Given the description of an element on the screen output the (x, y) to click on. 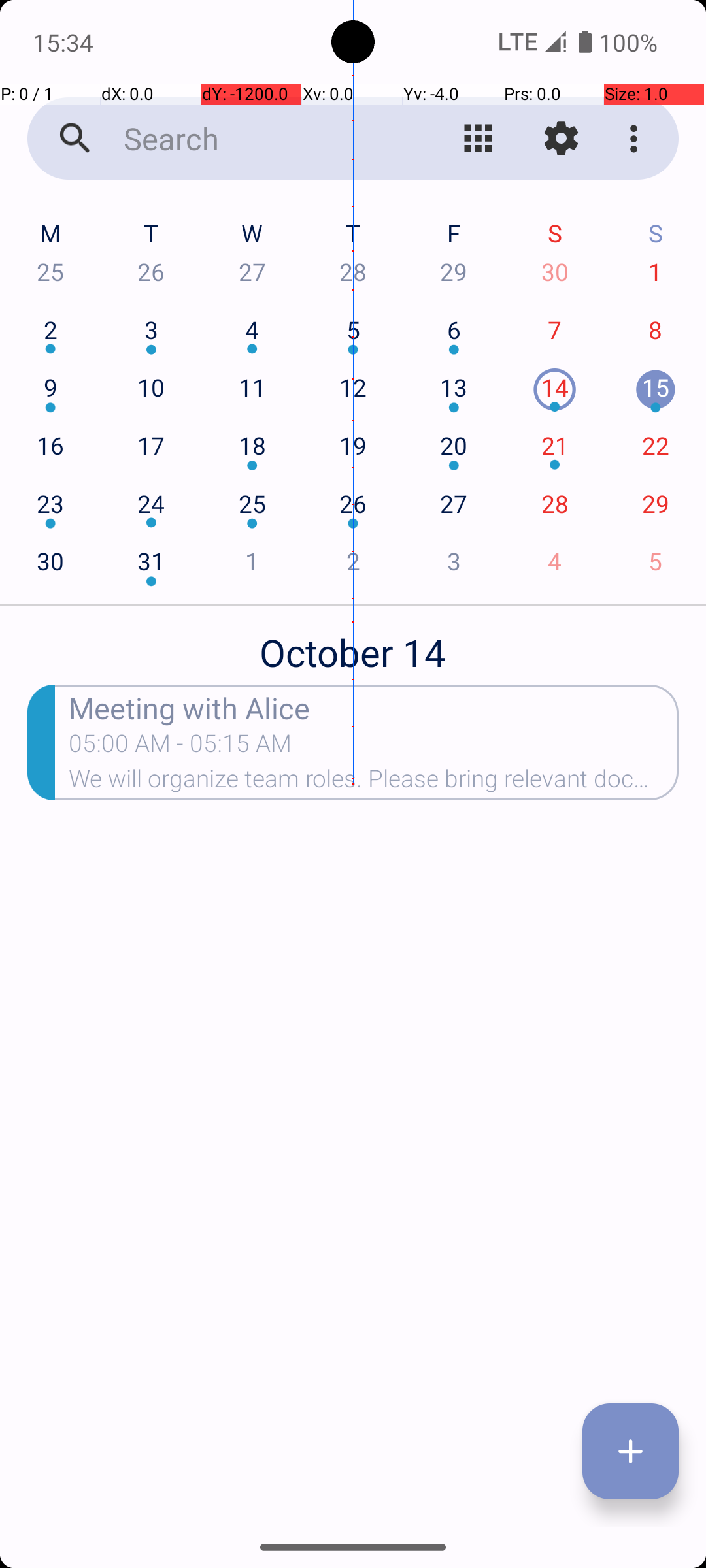
October 14 Element type: android.widget.TextView (352, 644)
Meeting with Alice Element type: android.widget.TextView (373, 706)
05:00 AM - 05:15 AM Element type: android.widget.TextView (179, 747)
We will organize team roles. Please bring relevant documents. Element type: android.widget.TextView (373, 782)
